Given the description of an element on the screen output the (x, y) to click on. 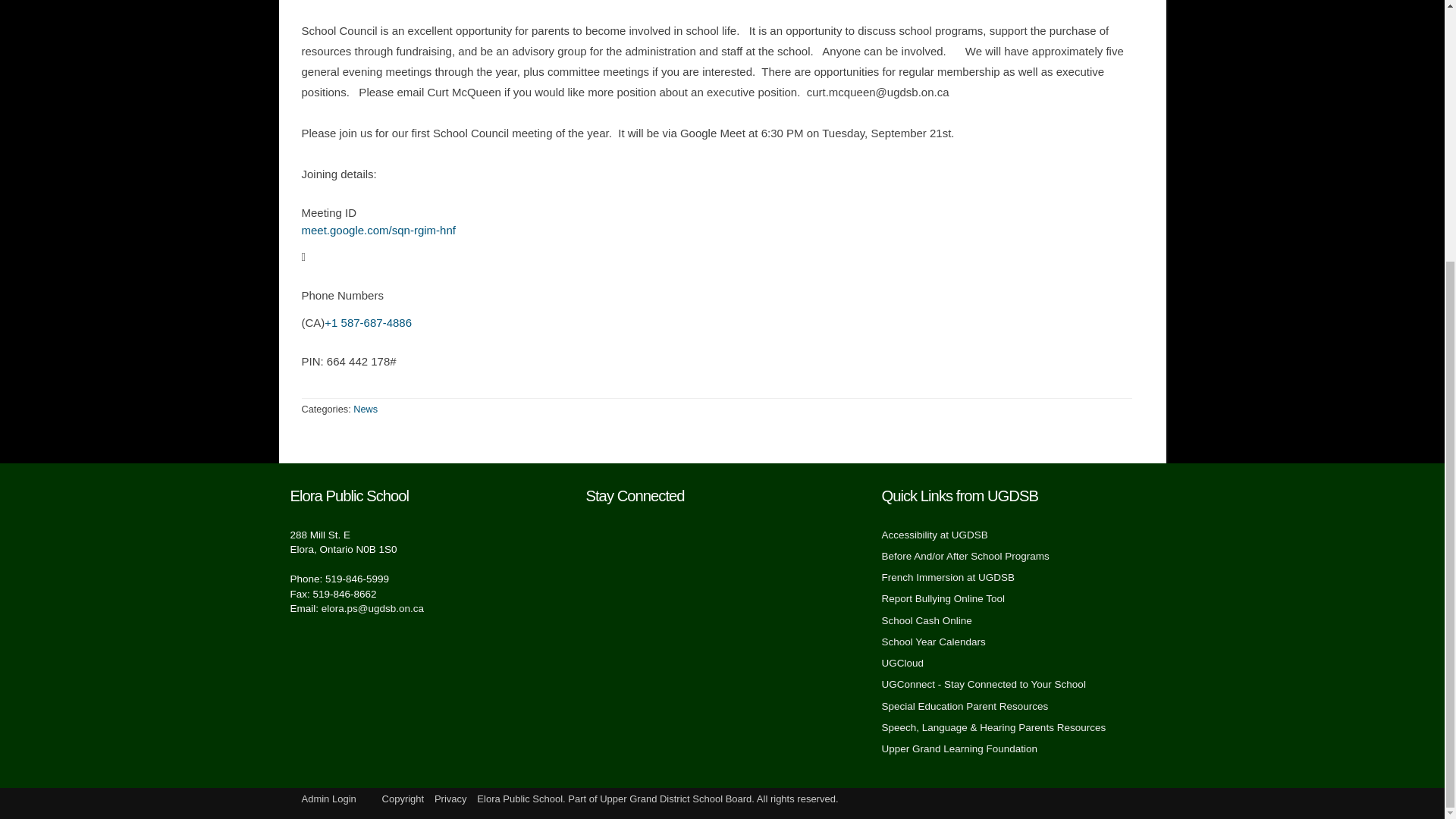
News (365, 408)
Upper Grand Learning Foundation (958, 748)
French Immersion at UGDSB (947, 577)
Admin Login (328, 798)
Accessibility at UGDSB (933, 534)
School Year Calendars (932, 641)
Report Bullying Online Tool (942, 598)
French Immersion at UGDSB (947, 577)
Copyright (403, 798)
UGConnect - Stay Connected to Your School (982, 684)
Privacy (450, 798)
UGCloud (901, 663)
Before and After School Programs (964, 555)
Elora Public School (519, 798)
Accessibility at UGDSB (933, 534)
